Given the description of an element on the screen output the (x, y) to click on. 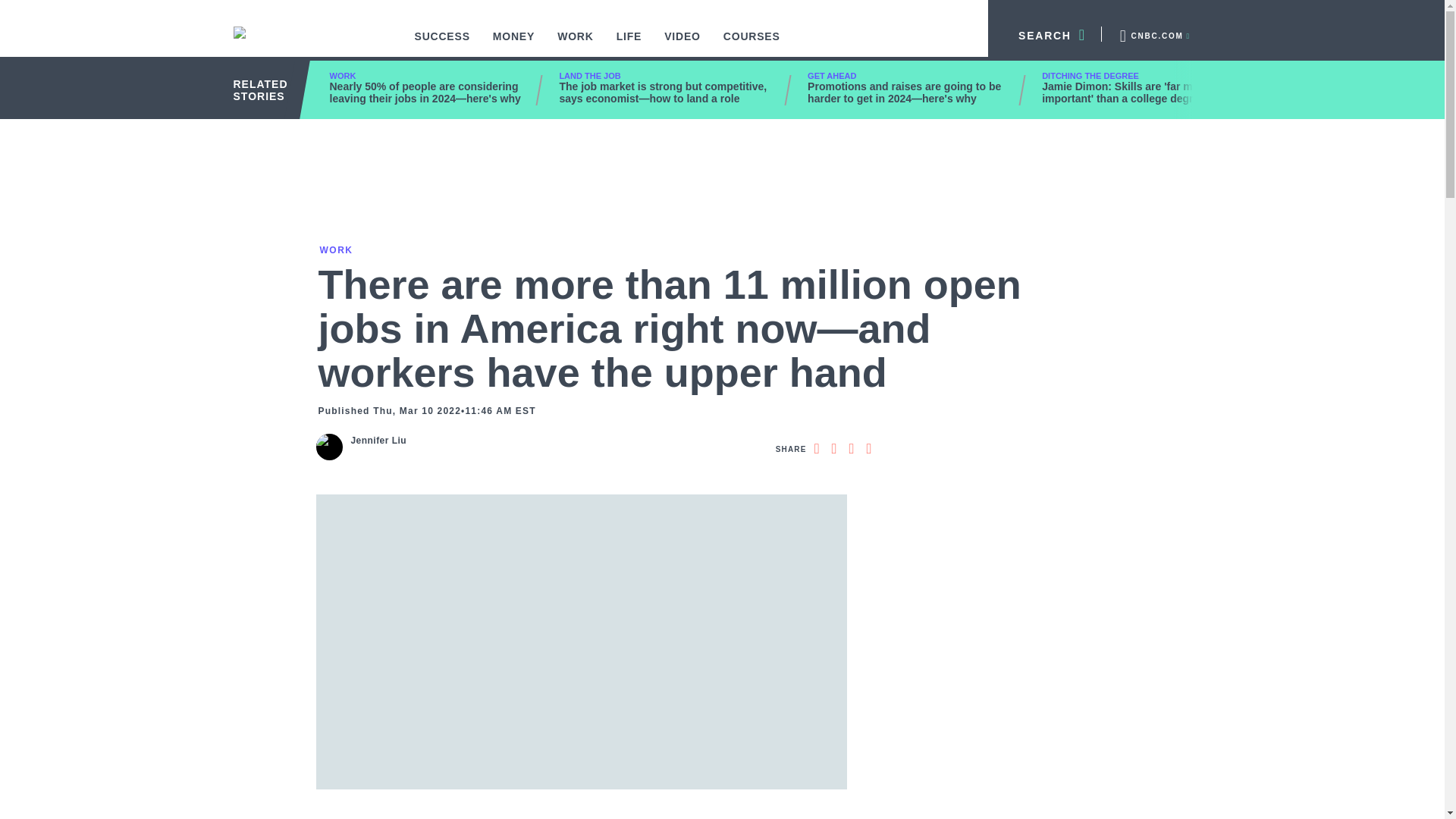
CNBC.COM (1153, 33)
LIFE (629, 44)
Jennifer Liu (378, 440)
WORK (334, 249)
COURSES (751, 44)
Share Article via Facebook (816, 448)
SUCCESS (442, 44)
WORK (575, 44)
SEARCH (1045, 33)
VIDEO (681, 44)
MONEY (513, 44)
